Given the description of an element on the screen output the (x, y) to click on. 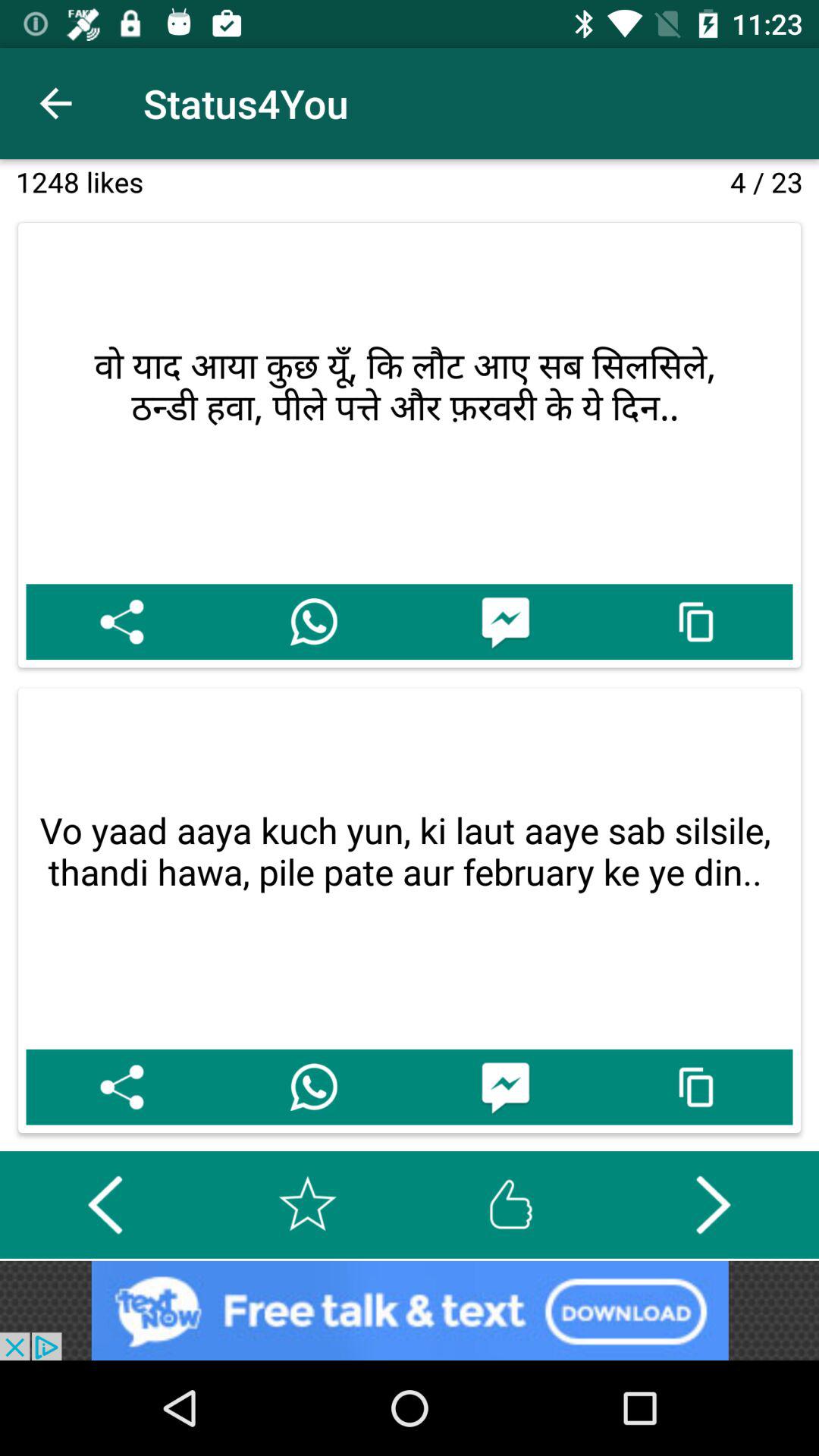
open groupchat (505, 1086)
